Given the description of an element on the screen output the (x, y) to click on. 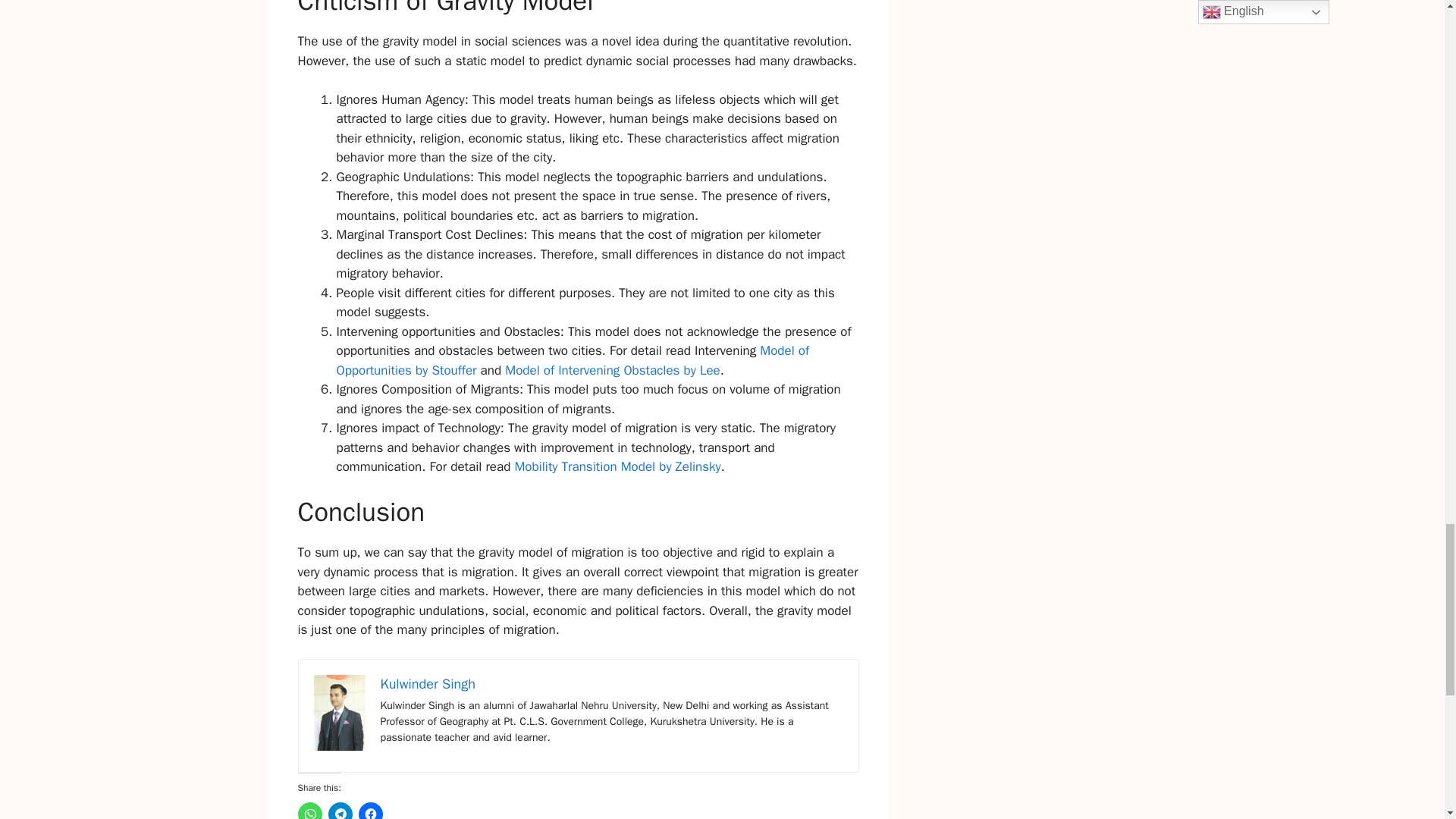
Mobility Transition Model by Zelinsky (615, 466)
Click to share on Facebook (369, 810)
Kulwinder Singh (428, 683)
Click to share on WhatsApp (309, 810)
Model of Intervening Obstacles by Lee (610, 370)
Click to share on Telegram (339, 810)
Model of Opportunities by Stouffer (572, 360)
